Given the description of an element on the screen output the (x, y) to click on. 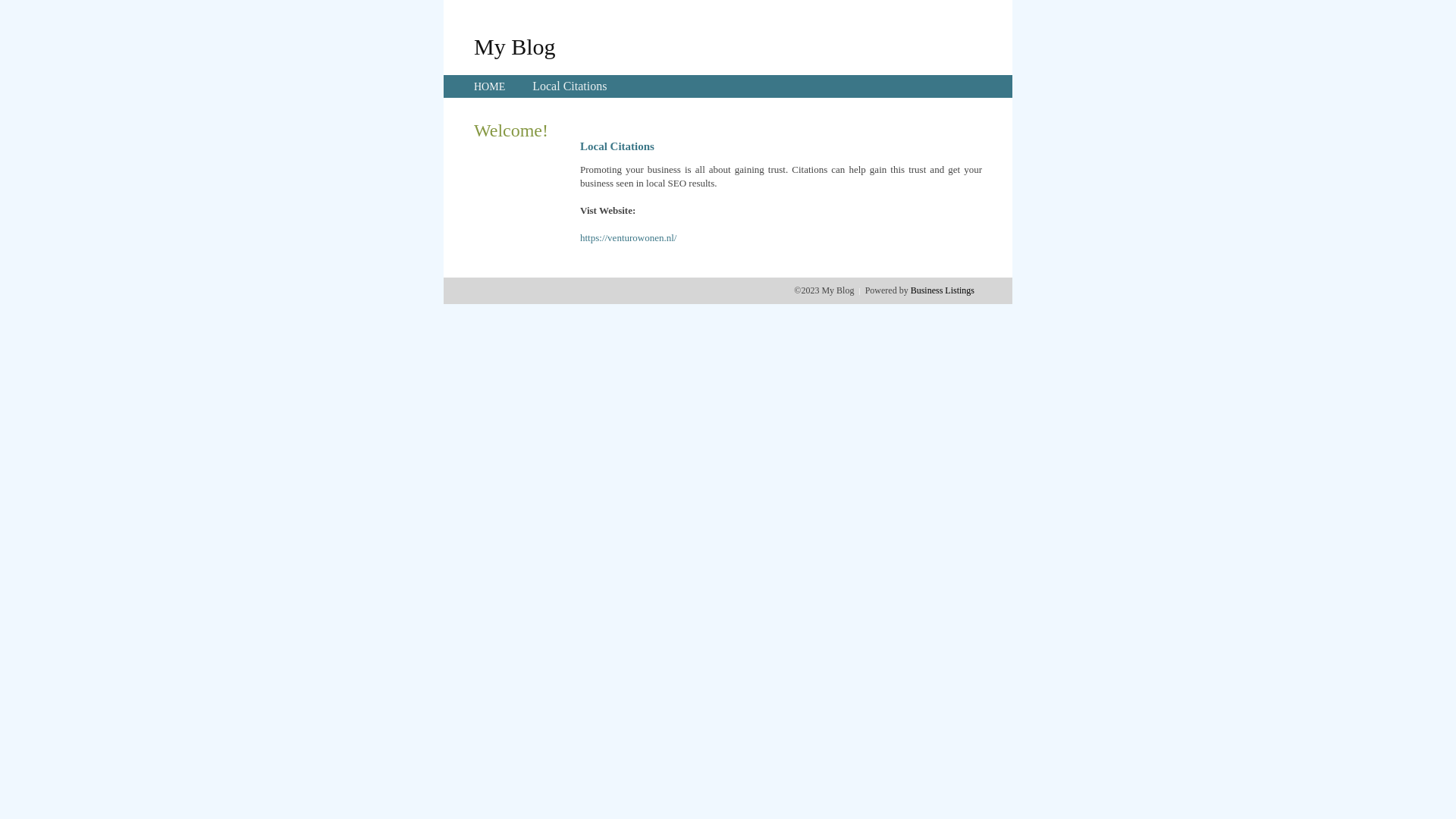
Business Listings Element type: text (942, 290)
Local Citations Element type: text (569, 85)
My Blog Element type: text (514, 46)
https://venturowonen.nl/ Element type: text (628, 237)
HOME Element type: text (489, 86)
